Given the description of an element on the screen output the (x, y) to click on. 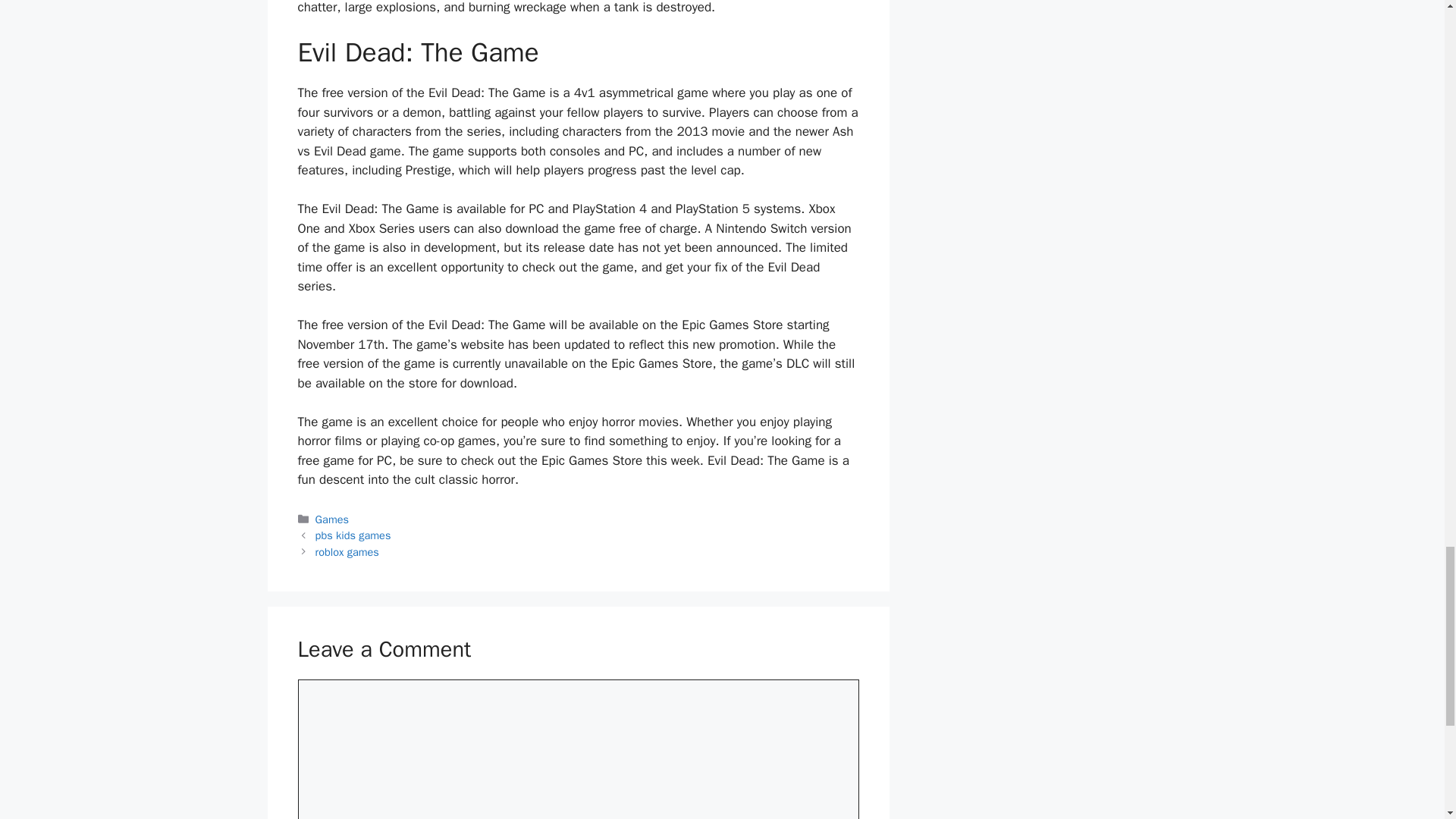
Games (332, 519)
pbs kids games (353, 535)
roblox games (346, 551)
